Given the description of an element on the screen output the (x, y) to click on. 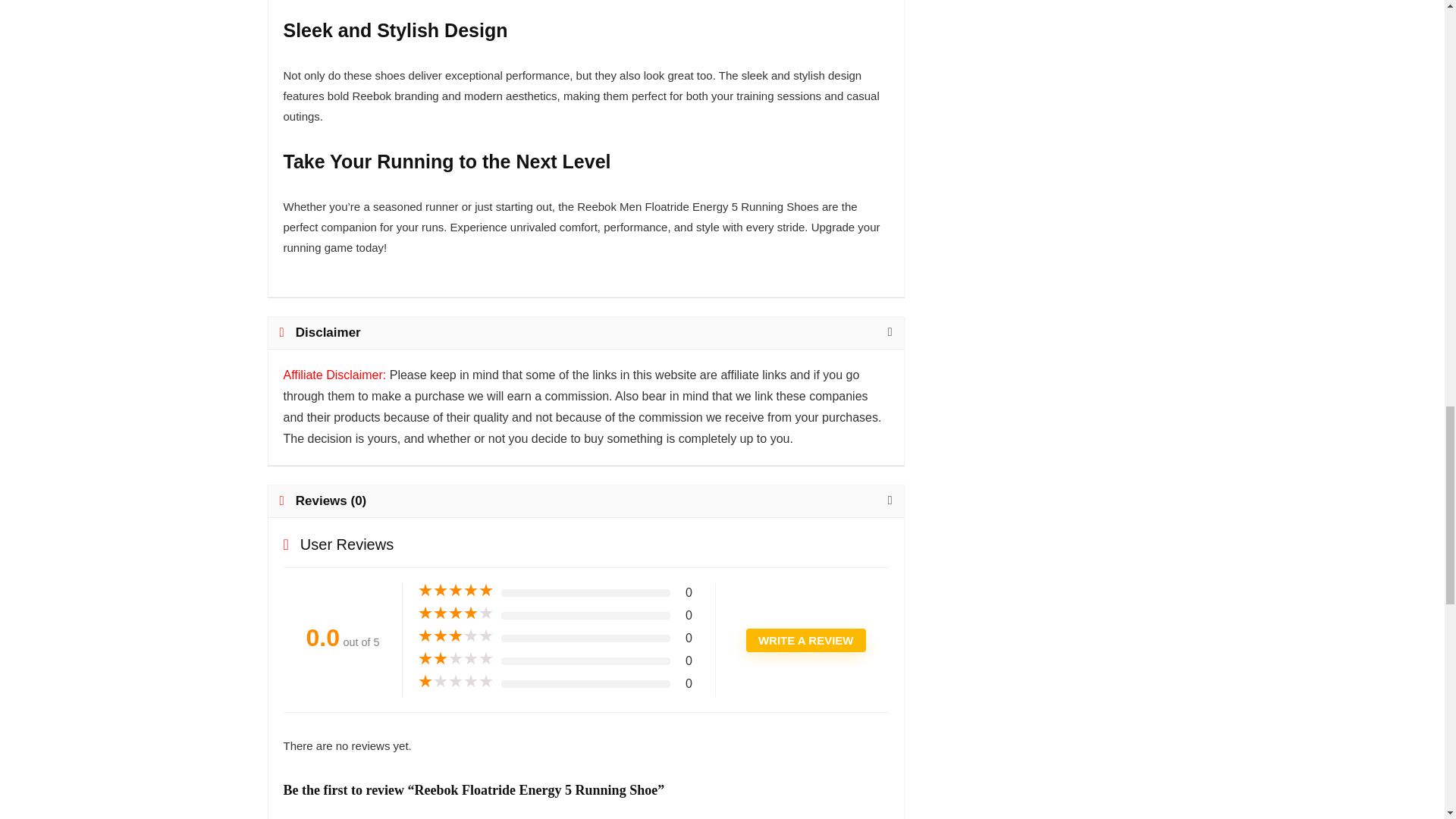
Rated 5 out of 5 (455, 590)
Rated 1 out of 5 (455, 681)
Rated 2 out of 5 (455, 658)
Rated 4 out of 5 (455, 613)
WRITE A REVIEW (805, 639)
Rated 3 out of 5 (455, 635)
